Given the description of an element on the screen output the (x, y) to click on. 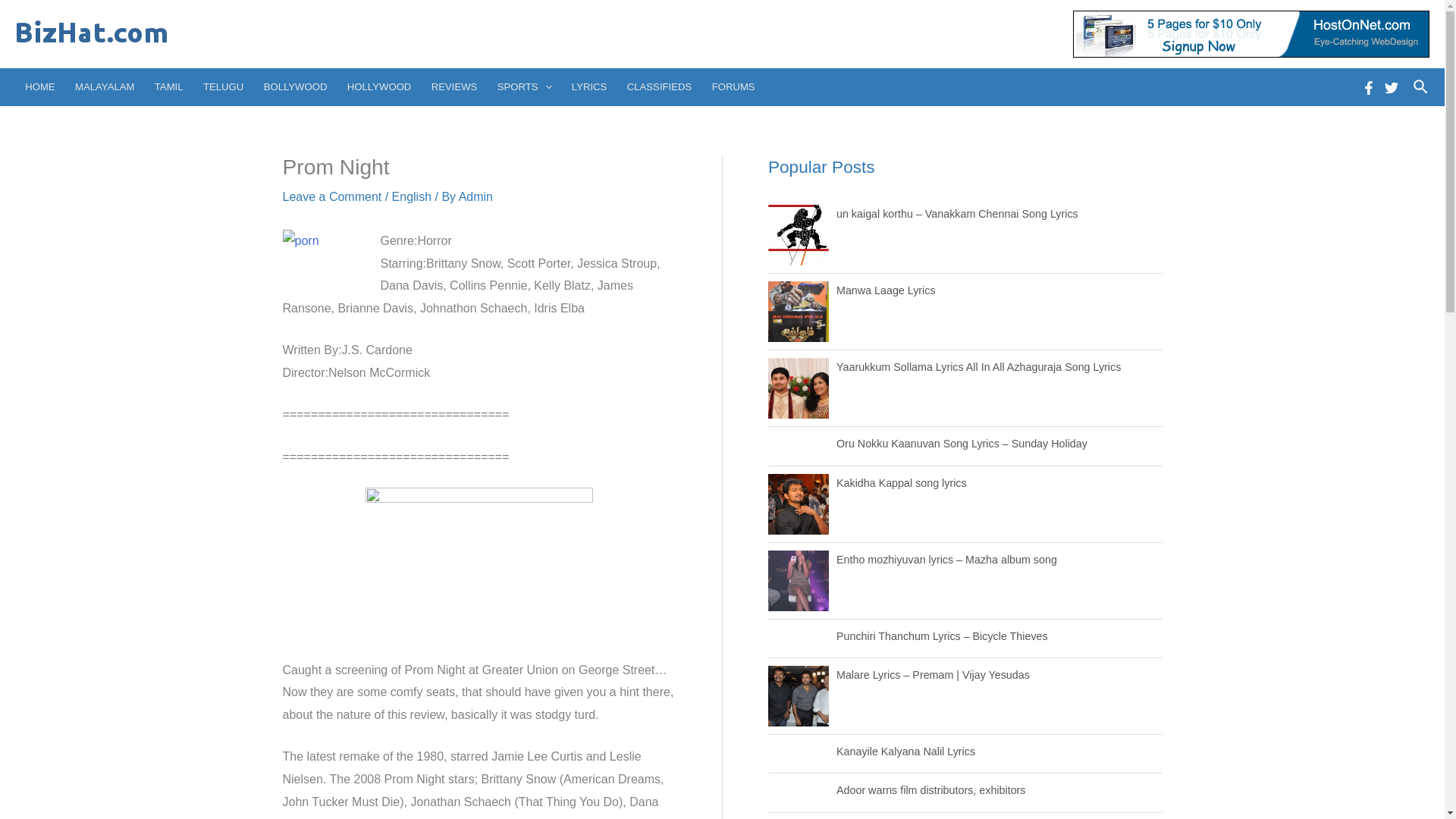
TAMIL (168, 86)
10008638 (321, 262)
View all posts by Admin (475, 196)
LYRICS (589, 86)
CLASSIFIEDS (659, 86)
HOLLYWOOD (379, 86)
HOME (39, 86)
BOLLYWOOD (294, 86)
MALAYALAM (104, 86)
TELUGU (223, 86)
